Given the description of an element on the screen output the (x, y) to click on. 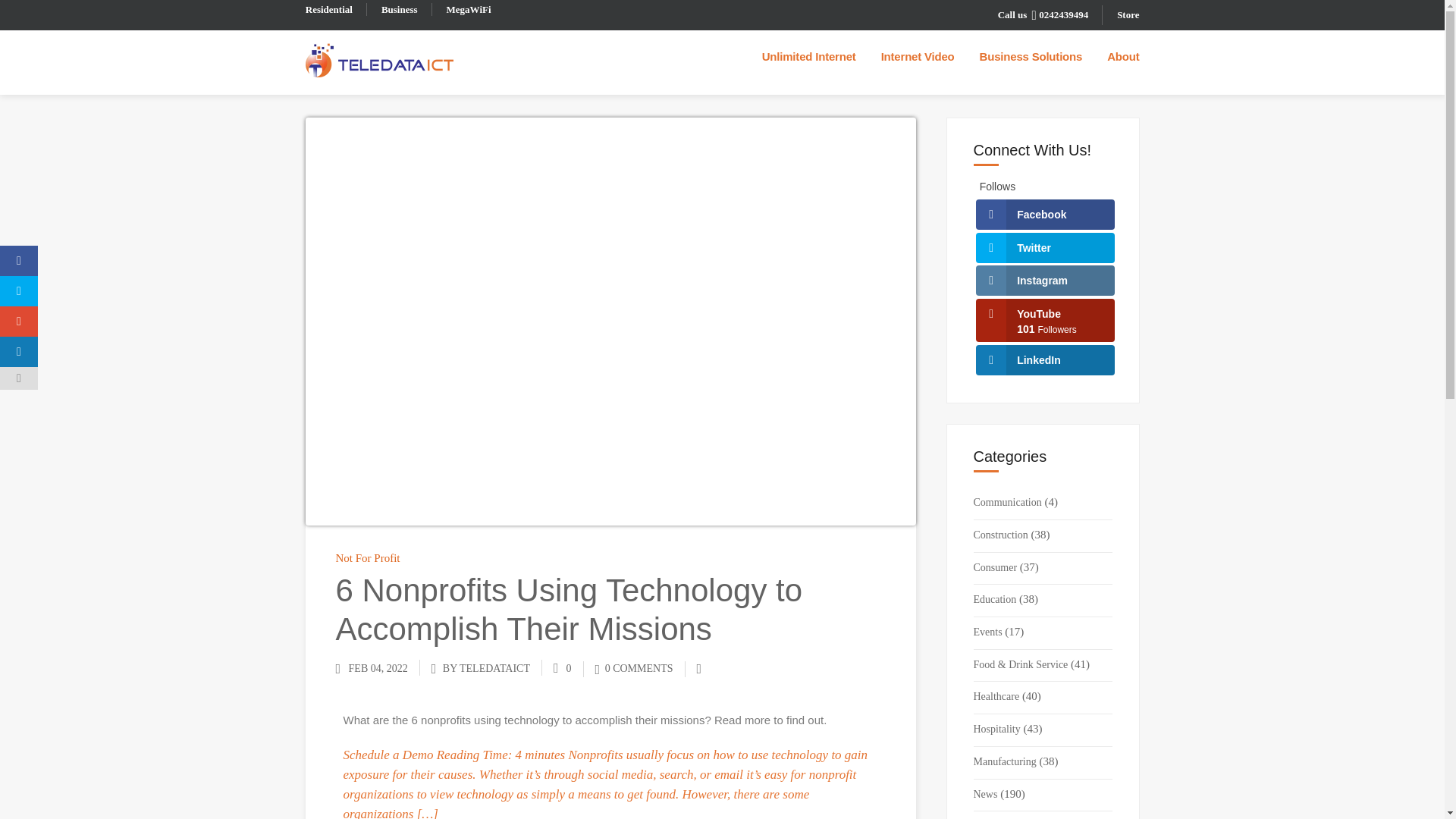
Internet Video (927, 62)
Business (399, 9)
About (1121, 62)
0242439494 (1059, 14)
Not For Profit (366, 558)
Unlimited Internet (819, 62)
Residential (328, 9)
Store (1127, 14)
Like this (562, 668)
MegaWiFi (469, 9)
Business Solutions (1040, 62)
